Given the description of an element on the screen output the (x, y) to click on. 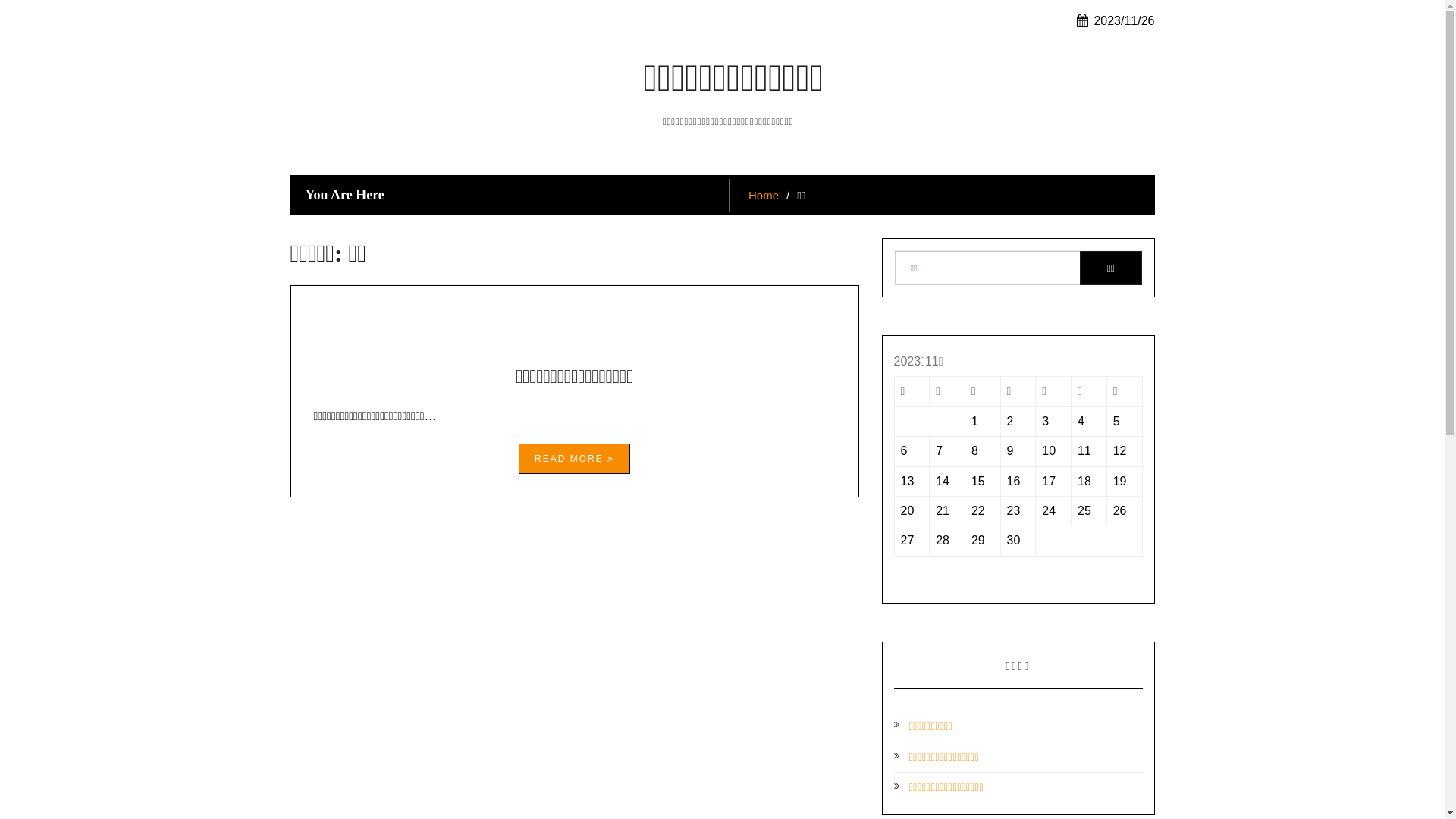
READ MORE Element type: text (574, 458)
Home Element type: text (763, 194)
